Given the description of an element on the screen output the (x, y) to click on. 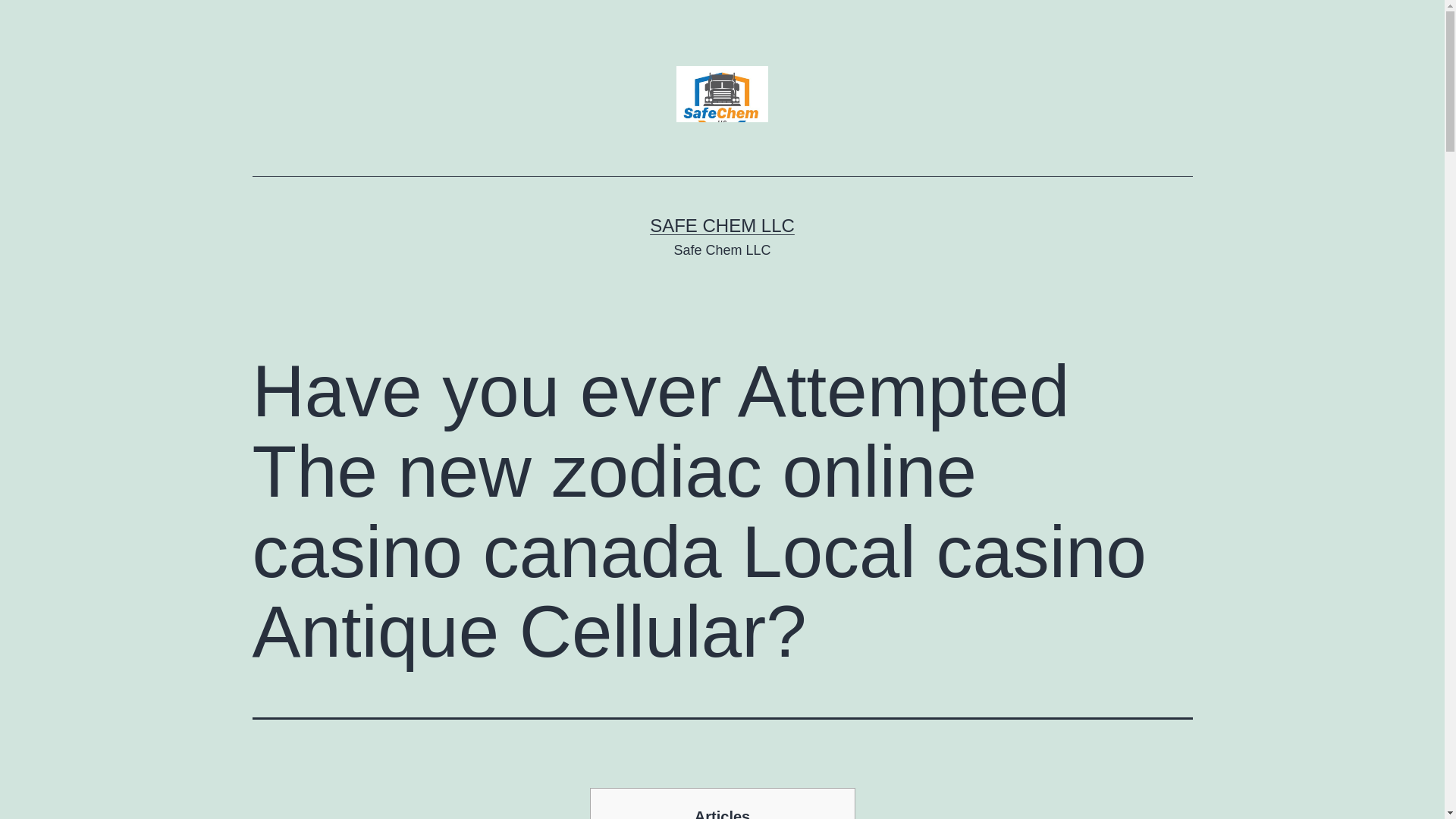
SAFE CHEM LLC (721, 225)
